Given the description of an element on the screen output the (x, y) to click on. 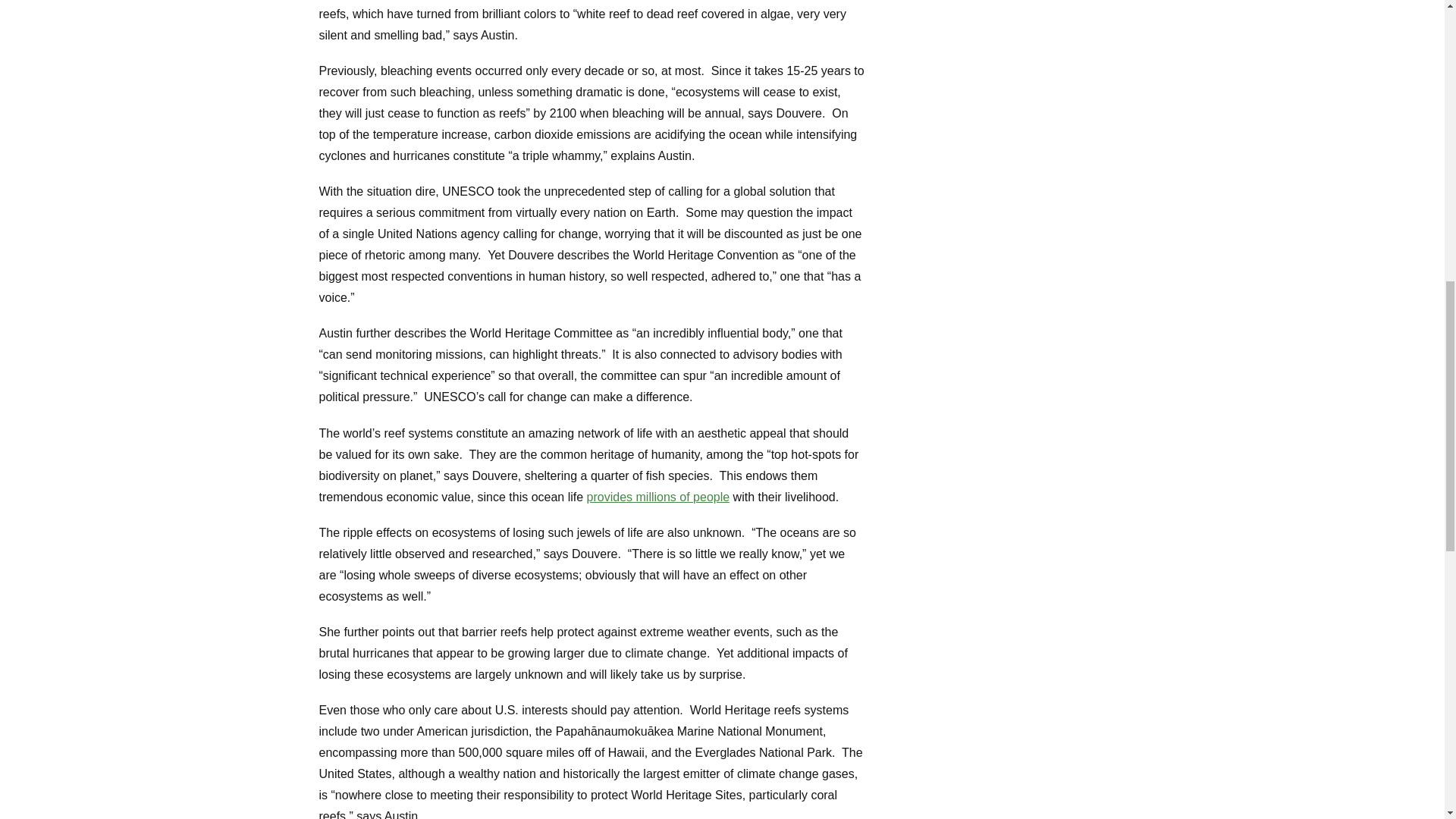
provides millions of people (658, 496)
